Given the description of an element on the screen output the (x, y) to click on. 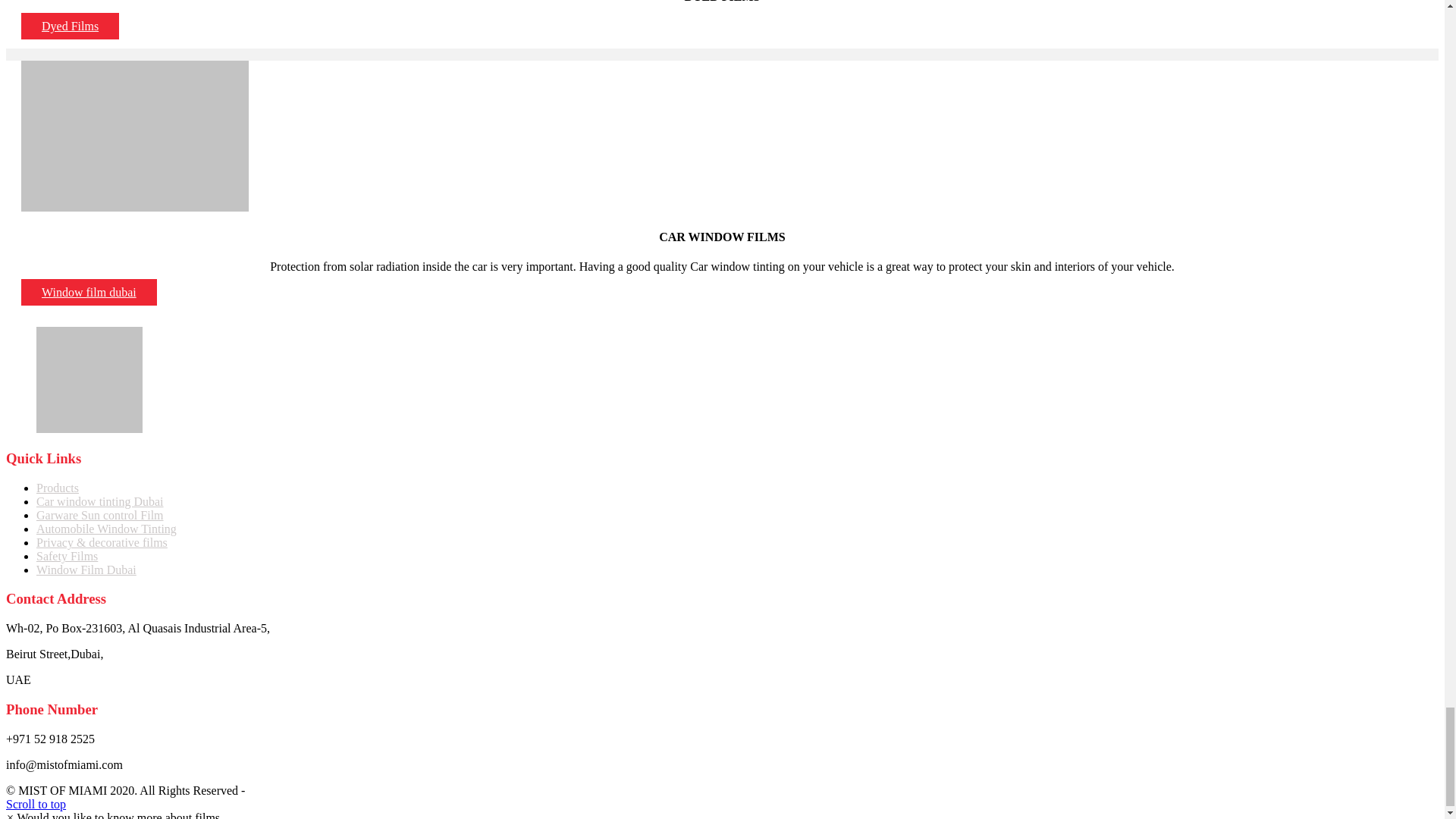
Scroll to top (35, 803)
